Given the description of an element on the screen output the (x, y) to click on. 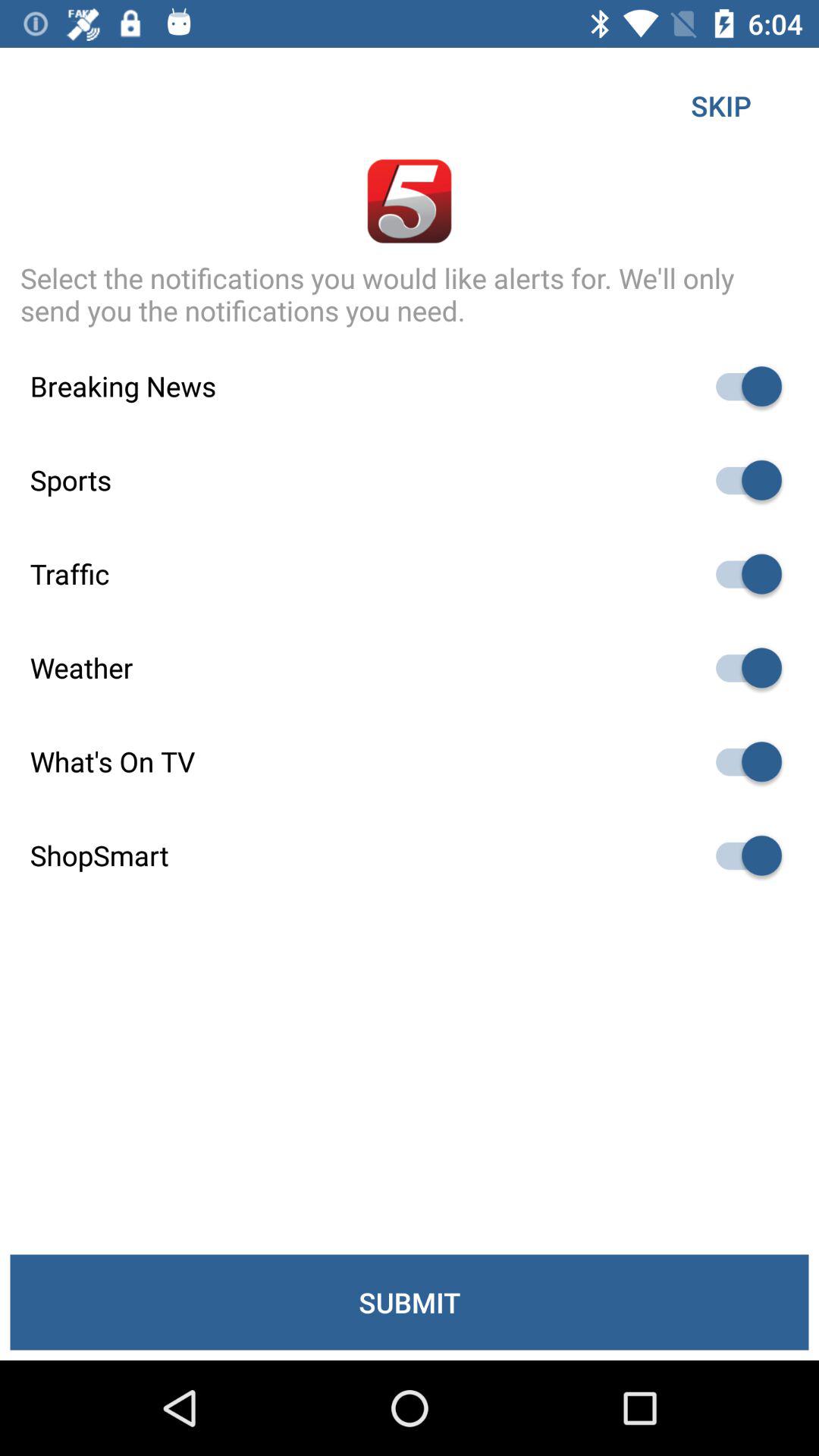
get notifications for tv (741, 761)
